Given the description of an element on the screen output the (x, y) to click on. 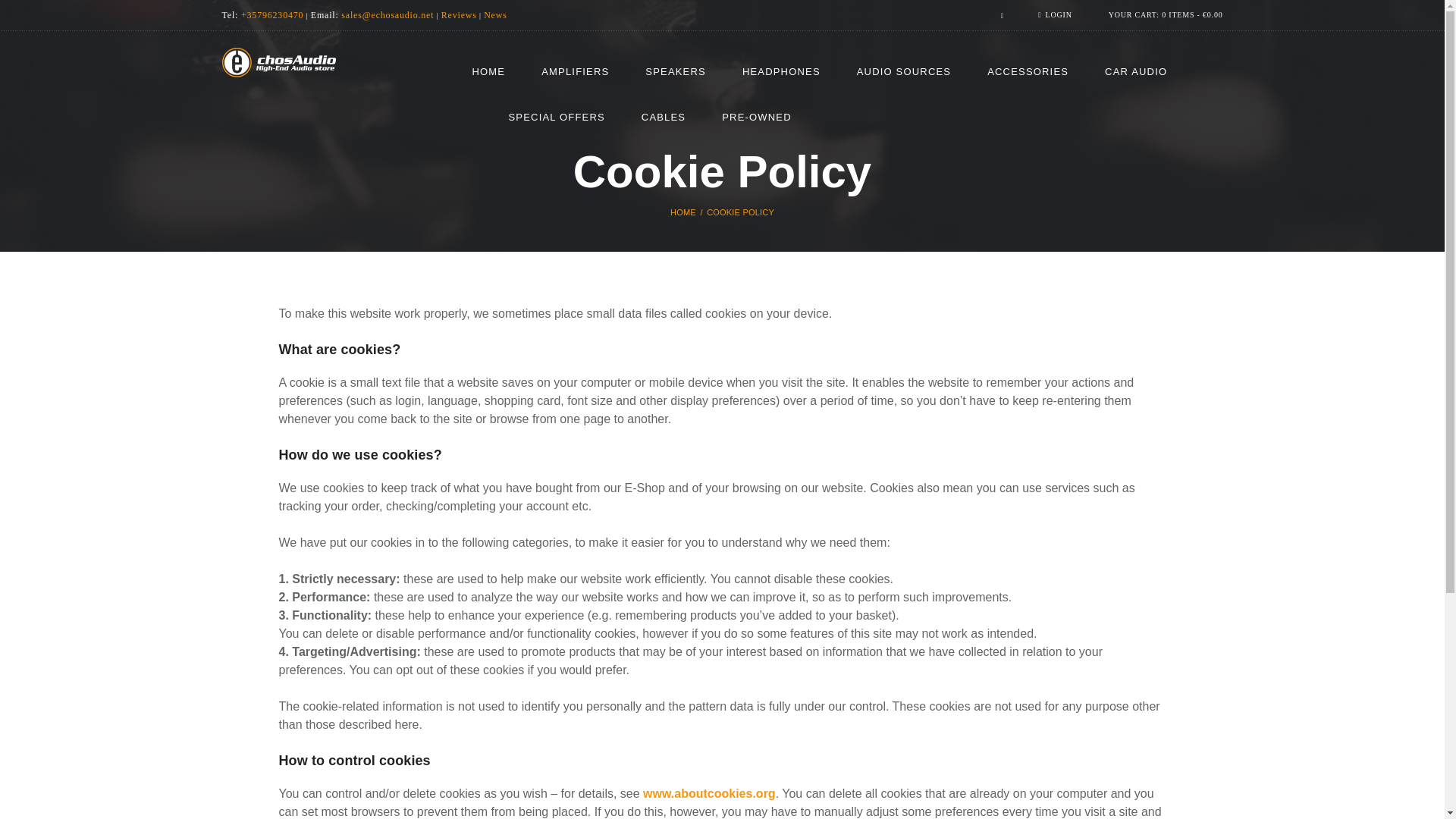
HEADPHONES (781, 72)
Reviews (459, 14)
LOGIN (1054, 14)
Open search (997, 15)
News (494, 14)
HOME (488, 72)
AUDIO SOURCES (903, 72)
AMPLIFIERS (574, 72)
SPEAKERS (675, 72)
